Given the description of an element on the screen output the (x, y) to click on. 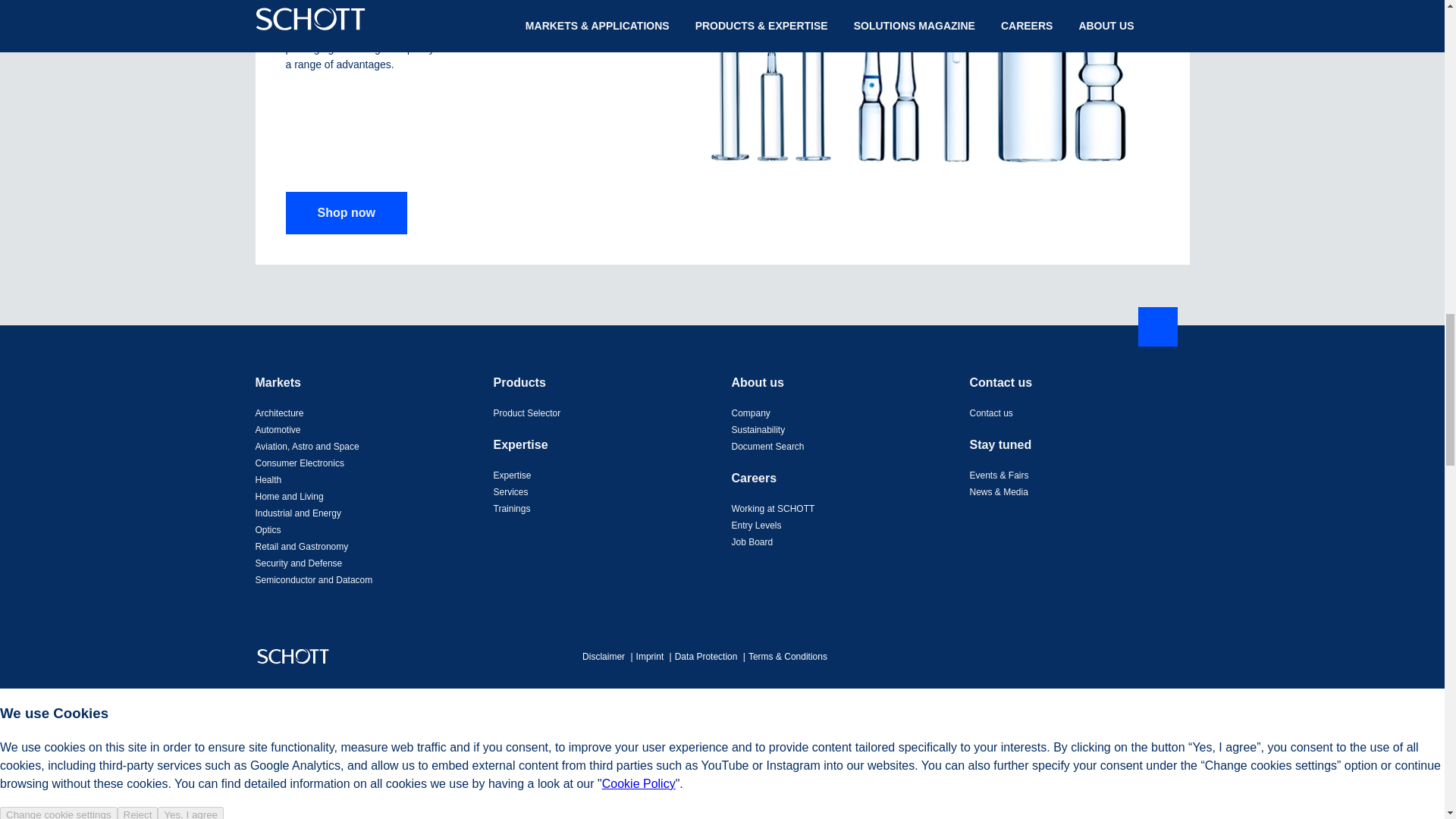
Security and Defense (298, 562)
Consumer Electronics (298, 462)
Services (510, 491)
Semiconductor and Datacom (313, 579)
Home and Living (288, 496)
Architecture (278, 412)
Optics (267, 529)
Expertise (512, 475)
Automotive (276, 429)
Health (267, 480)
Industrial and Energy (297, 512)
Product Selector (526, 412)
Retail and Gastronomy (300, 546)
Aviation, Astro and Space (306, 446)
